Given the description of an element on the screen output the (x, y) to click on. 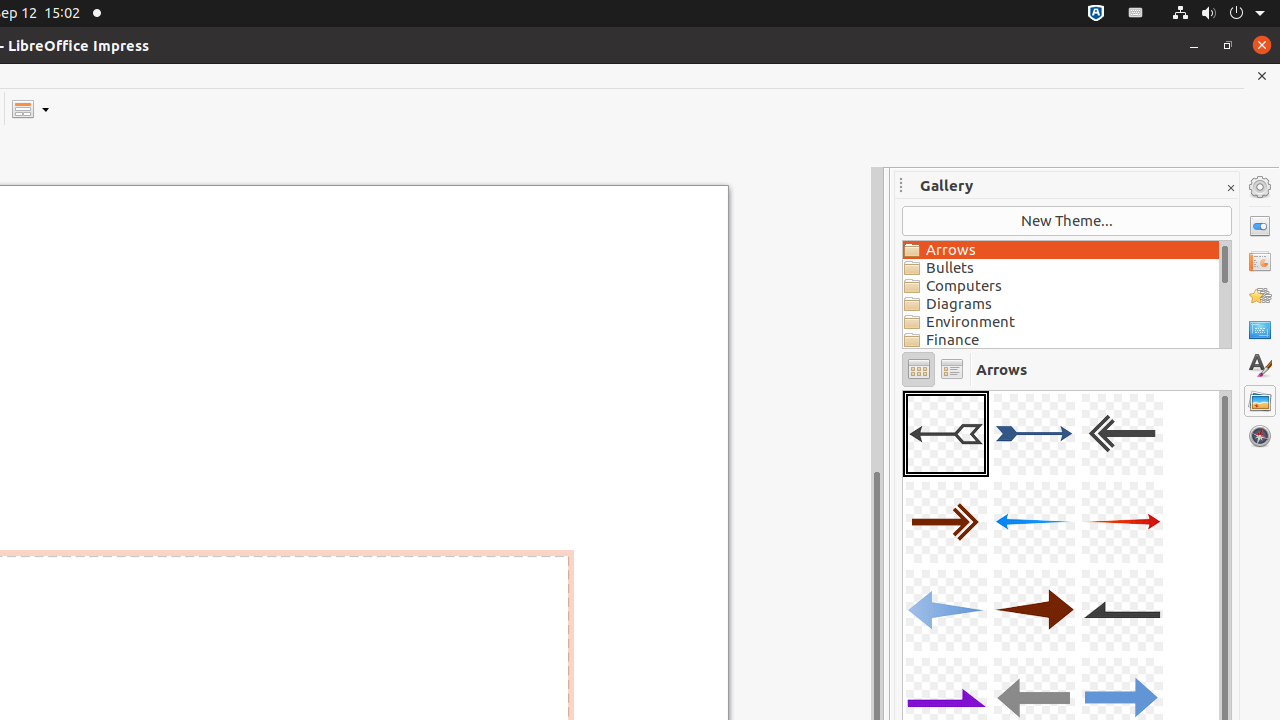
Slide Transition Element type: radio-button (1260, 261)
Styles Element type: radio-button (1260, 366)
New Theme Element type: push-button (1067, 221)
Close Sidebar Deck Element type: push-button (1230, 188)
Detailed View Element type: toggle-button (951, 369)
